Given the description of an element on the screen output the (x, y) to click on. 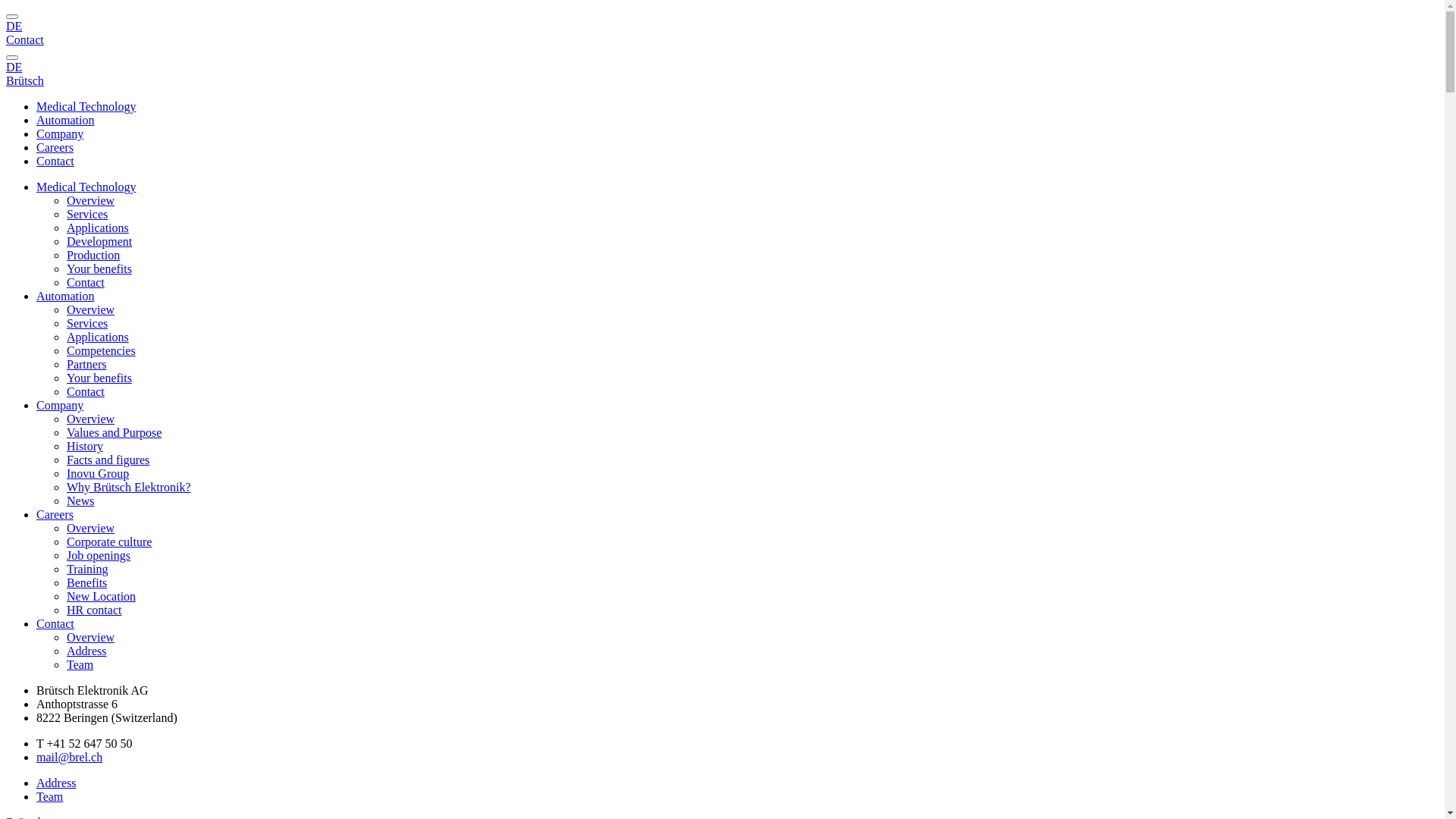
Careers Element type: text (54, 147)
Values and Purpose Element type: text (113, 432)
Benefits Element type: text (86, 582)
Team Element type: text (49, 796)
Contact Element type: text (85, 282)
Partners Element type: text (86, 363)
DE Element type: text (722, 33)
New Location Element type: text (100, 595)
Job openings Element type: text (98, 555)
Overview Element type: text (90, 418)
Applications Element type: text (97, 336)
Contact Element type: text (85, 391)
History Element type: text (84, 445)
Contact Element type: text (55, 623)
Address Element type: text (86, 650)
Production Element type: text (92, 254)
Your benefits Element type: text (98, 268)
Development Element type: text (98, 241)
HR contact Element type: text (93, 609)
Overview Element type: text (90, 527)
Corporate culture Element type: text (108, 541)
Overview Element type: text (90, 200)
Company Element type: text (59, 133)
Contact Element type: text (24, 39)
Automation Element type: text (65, 295)
Team Element type: text (79, 664)
Medical Technology Element type: text (85, 186)
Careers Element type: text (54, 514)
Contact Element type: text (55, 160)
Medical Technology Element type: text (85, 106)
Competencies Element type: text (100, 350)
Applications Element type: text (97, 227)
mail@brel.ch Element type: text (69, 756)
Company Element type: text (59, 404)
Address Element type: text (55, 782)
Overview Element type: text (90, 309)
Automation Element type: text (65, 119)
Facts and figures Element type: text (107, 459)
Training Element type: text (87, 568)
Services Element type: text (86, 322)
DE Element type: text (722, 73)
News Element type: text (80, 500)
Inovu Group Element type: text (97, 473)
Your benefits Element type: text (98, 377)
Overview Element type: text (90, 636)
Services Element type: text (86, 213)
